Given the description of an element on the screen output the (x, y) to click on. 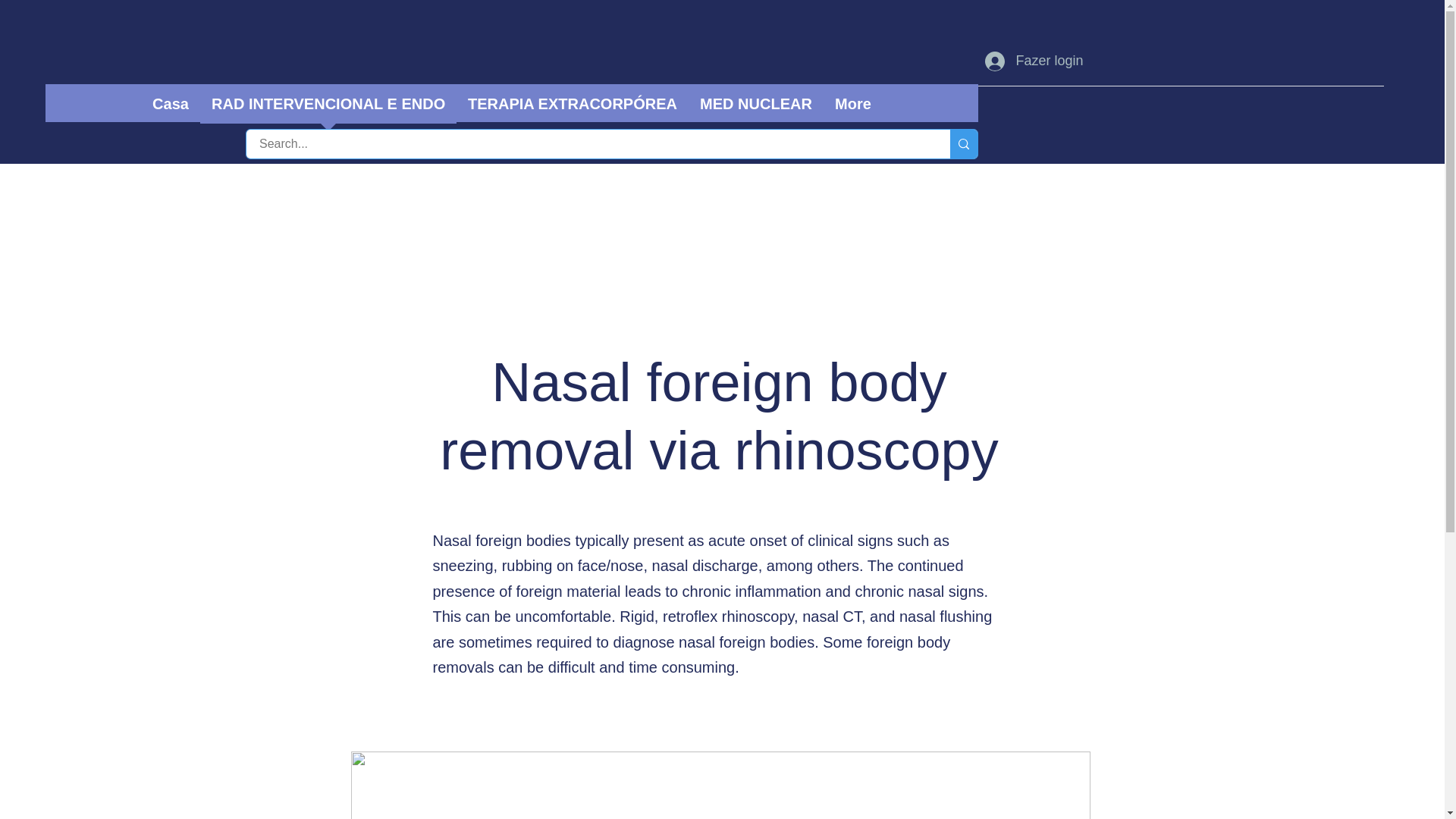
RAD INTERVENCIONAL E ENDO (328, 108)
Fazer login (1033, 61)
Casa (170, 108)
MED NUCLEAR (756, 108)
